Given the description of an element on the screen output the (x, y) to click on. 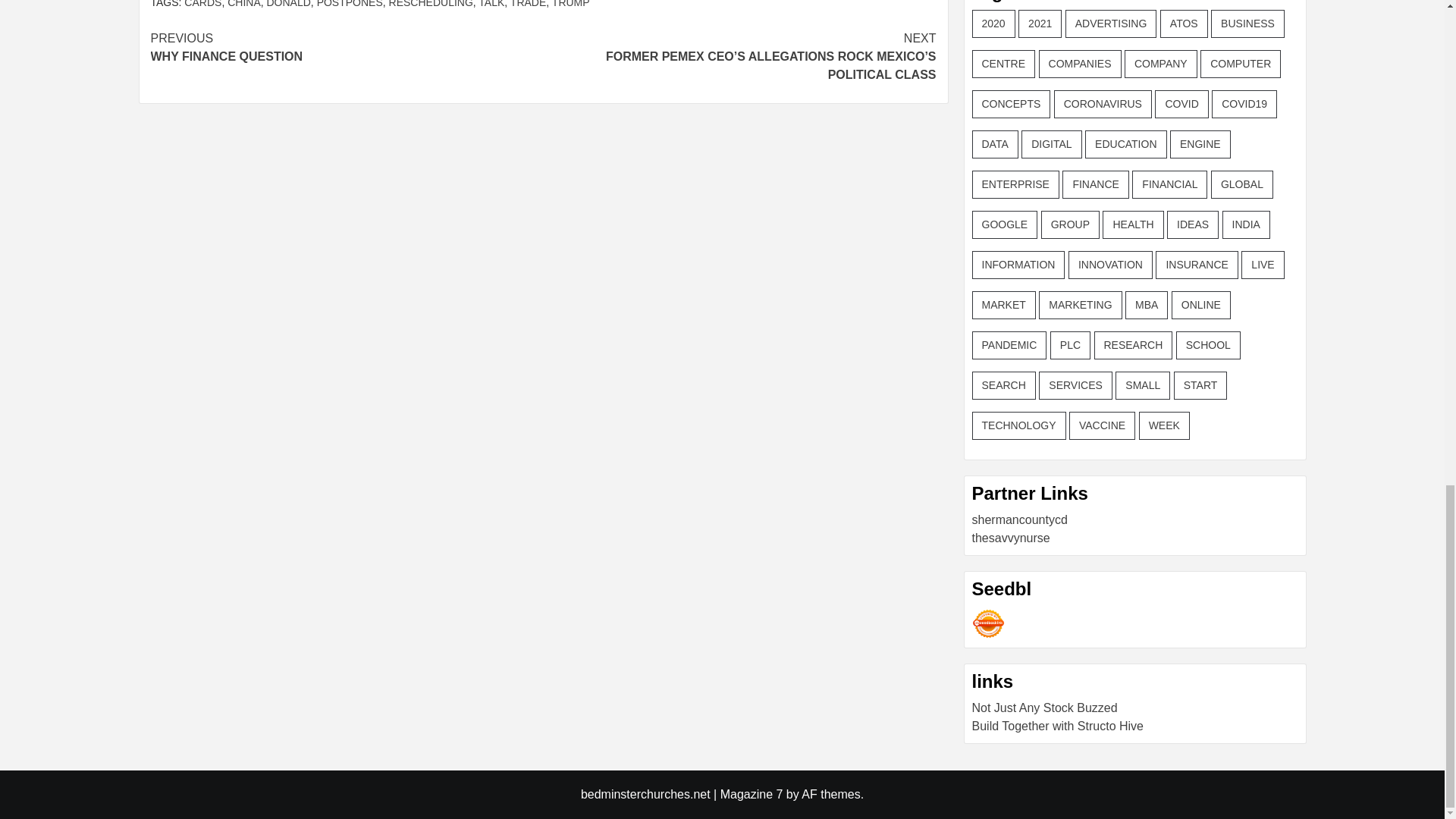
RESCHEDULING (430, 4)
2021 (1039, 23)
DONALD (288, 4)
TALK (491, 4)
2020 (993, 23)
POSTPONES (349, 4)
CHINA (243, 4)
TRUMP (570, 4)
CARDS (202, 4)
Seedbacklink (988, 623)
